Given the description of an element on the screen output the (x, y) to click on. 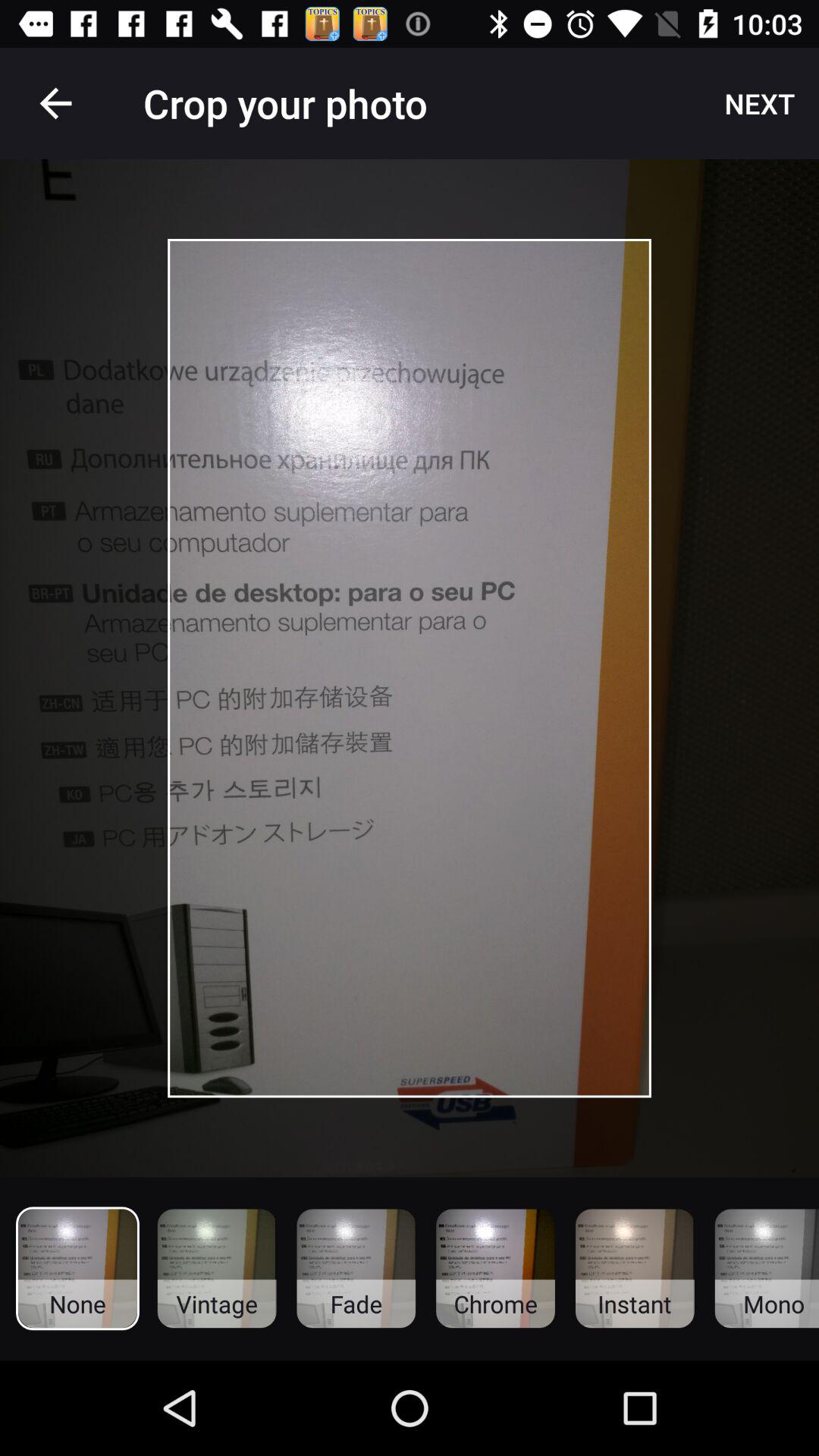
click on none in the bottom left of the web page (77, 1268)
click on chrome button which is at bottom of the page (495, 1268)
select the theme vintage on the web page (217, 1268)
click om the text next to chrome (634, 1268)
click on the button right to instant (766, 1268)
